Given the description of an element on the screen output the (x, y) to click on. 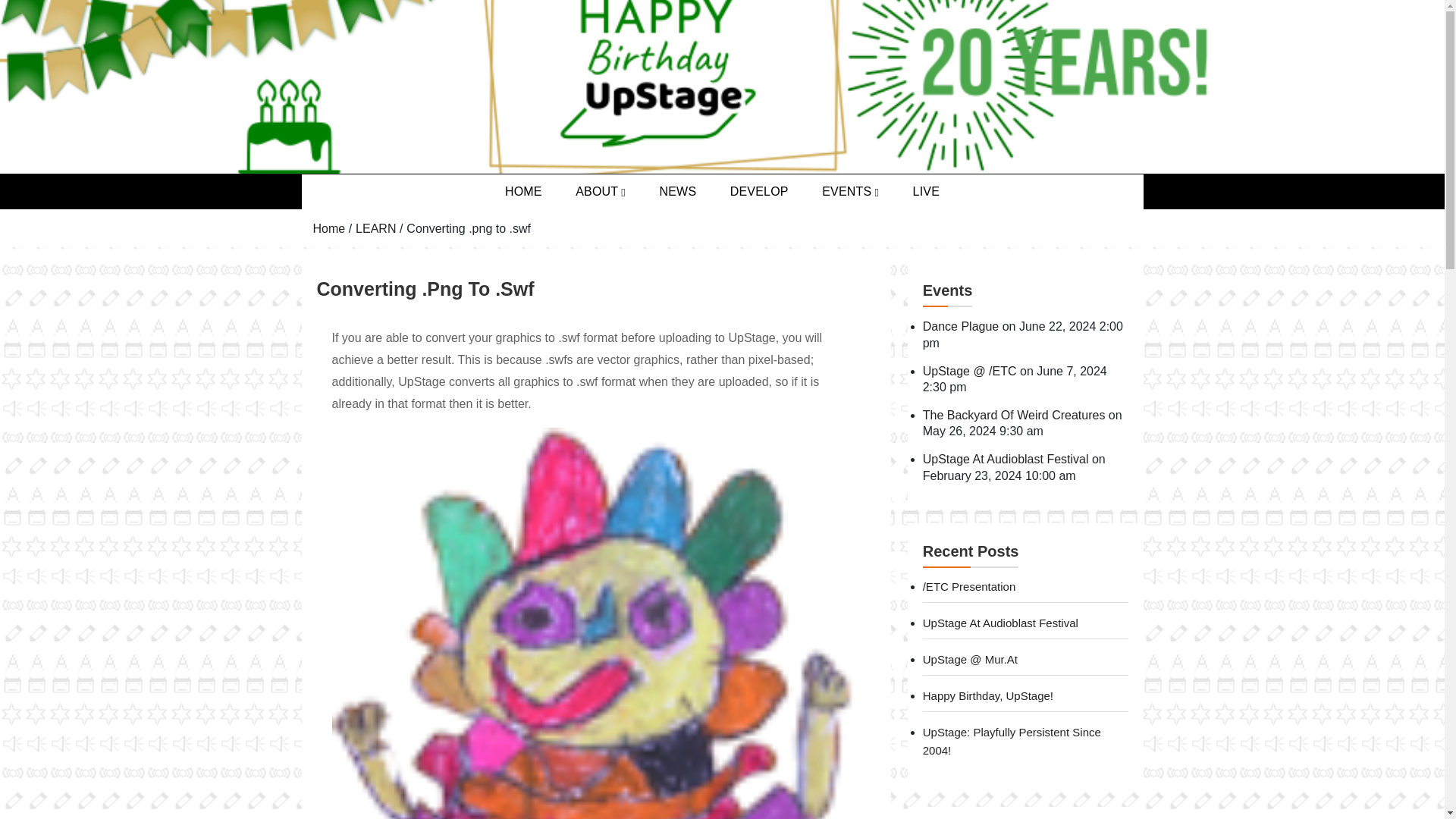
EVENTS (849, 191)
DEVELOP (758, 191)
ABOUT (600, 191)
NEWS (677, 191)
Fork UpStage on GitHub (758, 191)
HOME (523, 191)
